Given the description of an element on the screen output the (x, y) to click on. 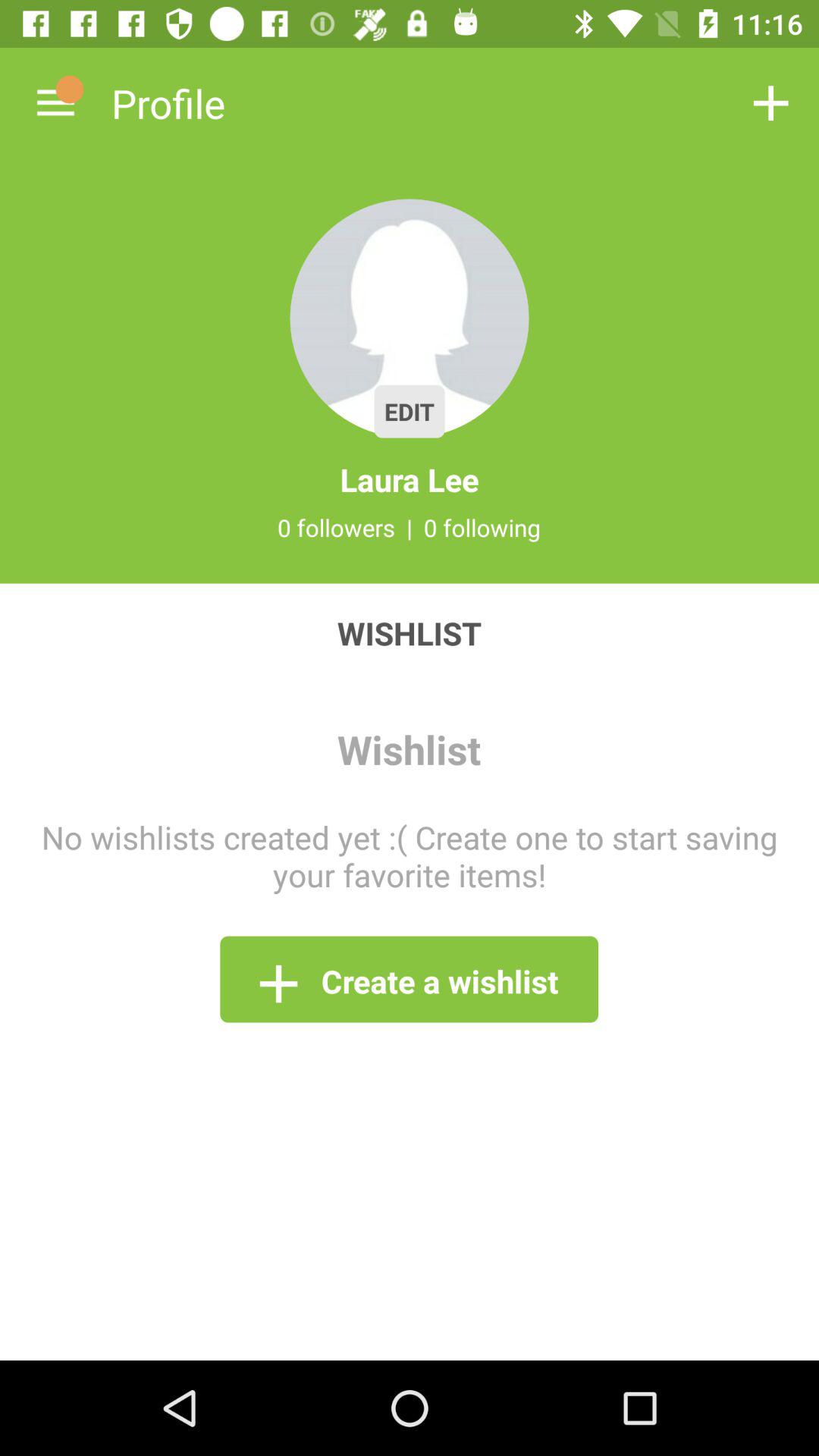
select the icon above wishlist icon (409, 527)
